Given the description of an element on the screen output the (x, y) to click on. 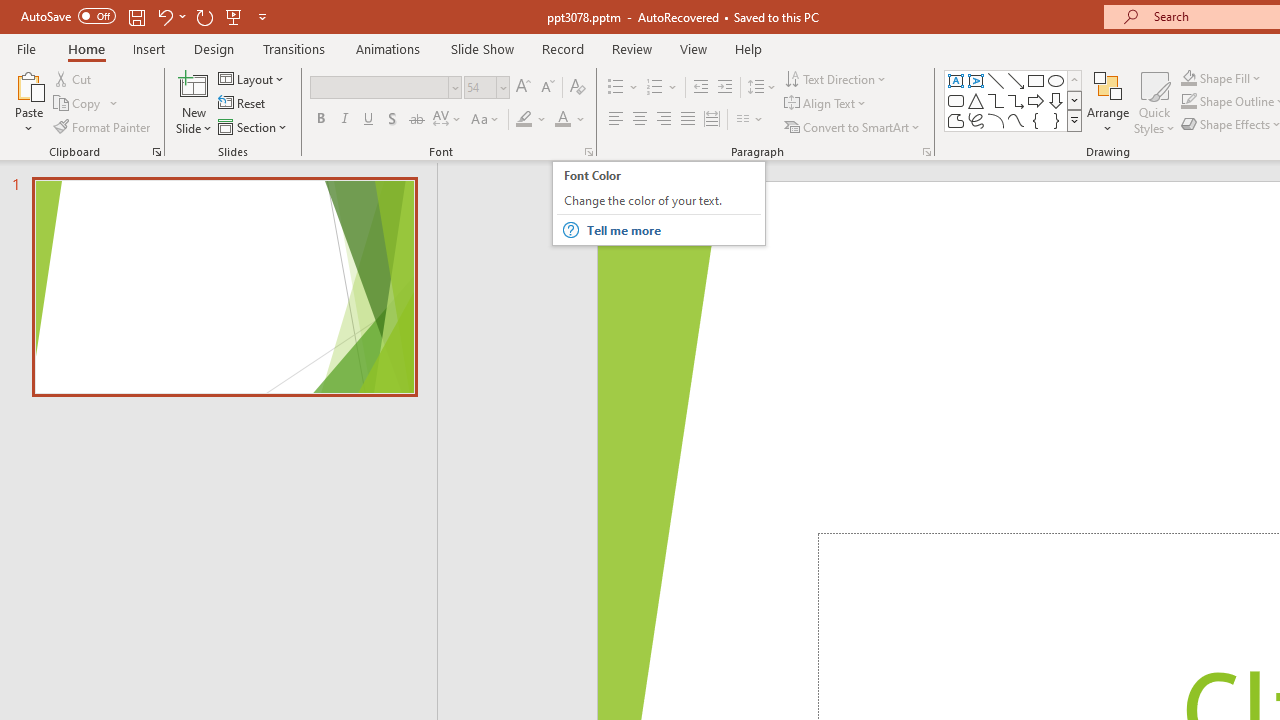
Paste (28, 102)
Rectangle: Rounded Corners (955, 100)
Align Right (663, 119)
Center (639, 119)
Text Direction (836, 78)
Bold (320, 119)
Customize Quick Access Toolbar (262, 15)
Font Color Red (562, 119)
Font Size (480, 87)
Columns (750, 119)
Text Highlight Color (531, 119)
Line (995, 80)
AutomationID: ShapesInsertGallery (1014, 100)
Font Size (486, 87)
Numbering (661, 87)
